Given the description of an element on the screen output the (x, y) to click on. 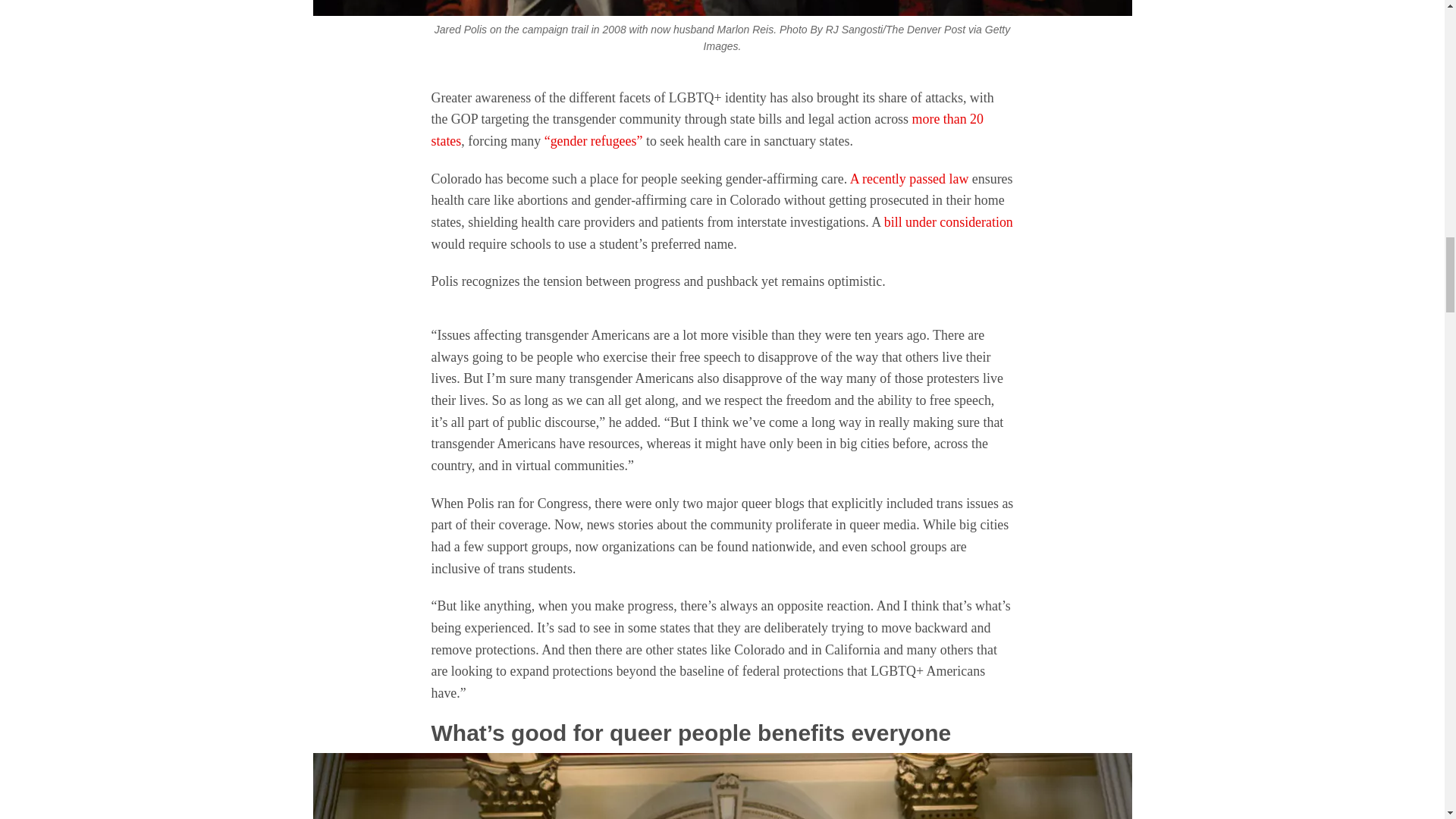
A recently passed law (909, 178)
more than 20 states (707, 129)
bill under consideration (948, 222)
